Given the description of an element on the screen output the (x, y) to click on. 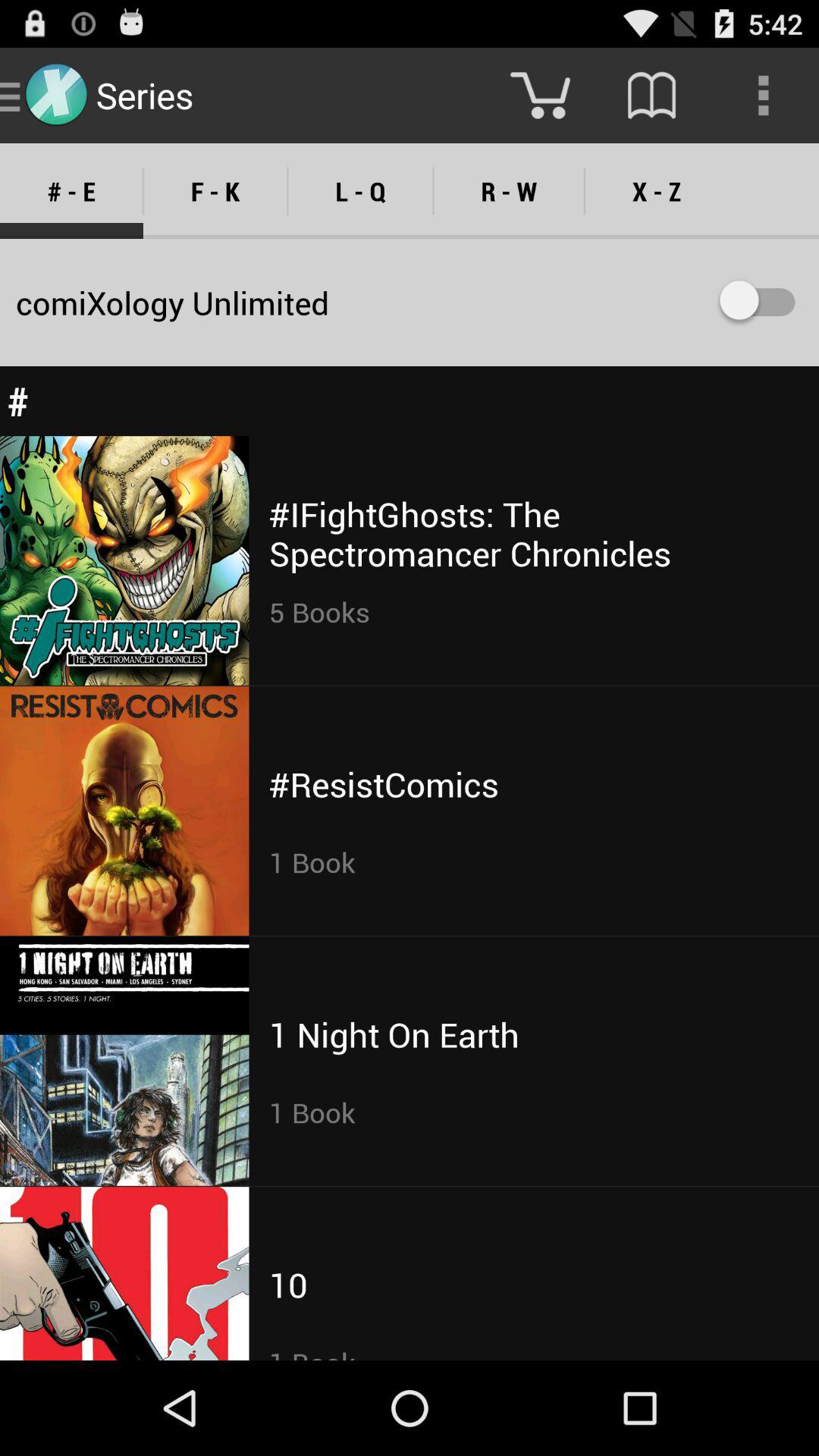
turn off icon next to the x - z item (508, 190)
